Given the description of an element on the screen output the (x, y) to click on. 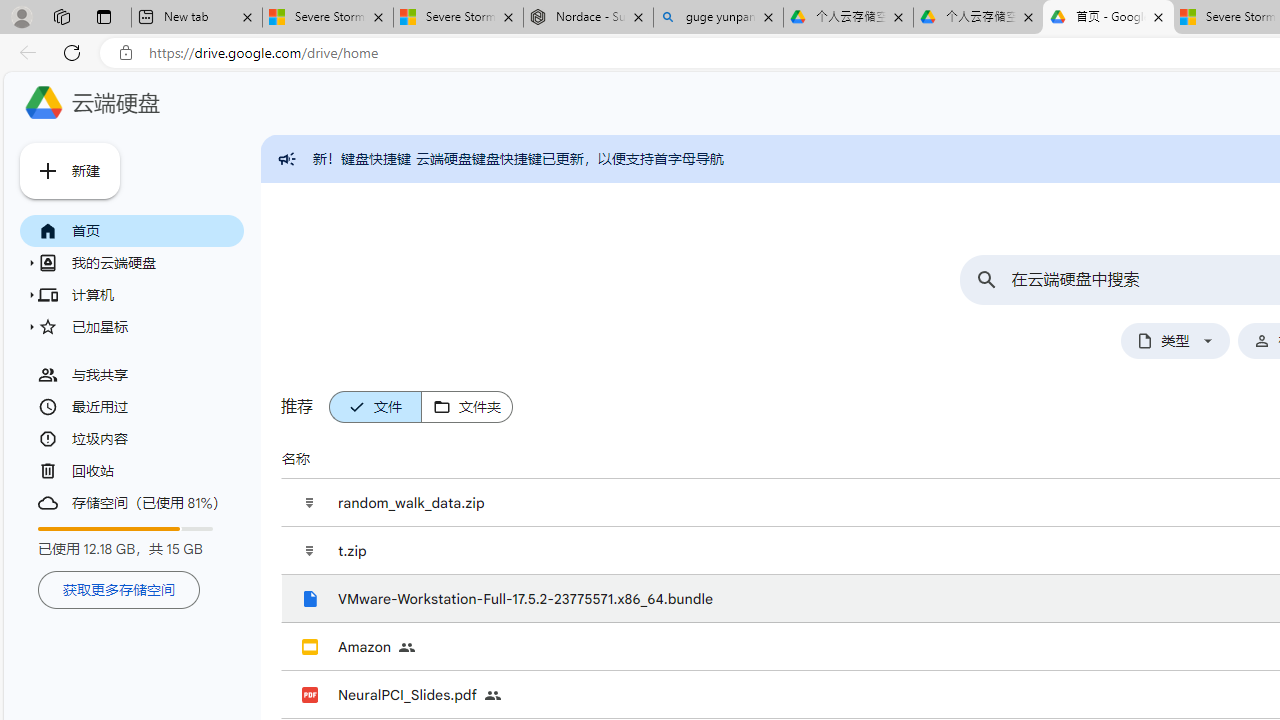
Class: c-qd a-s-fa-Ha-pa (31, 326)
